Given the description of an element on the screen output the (x, y) to click on. 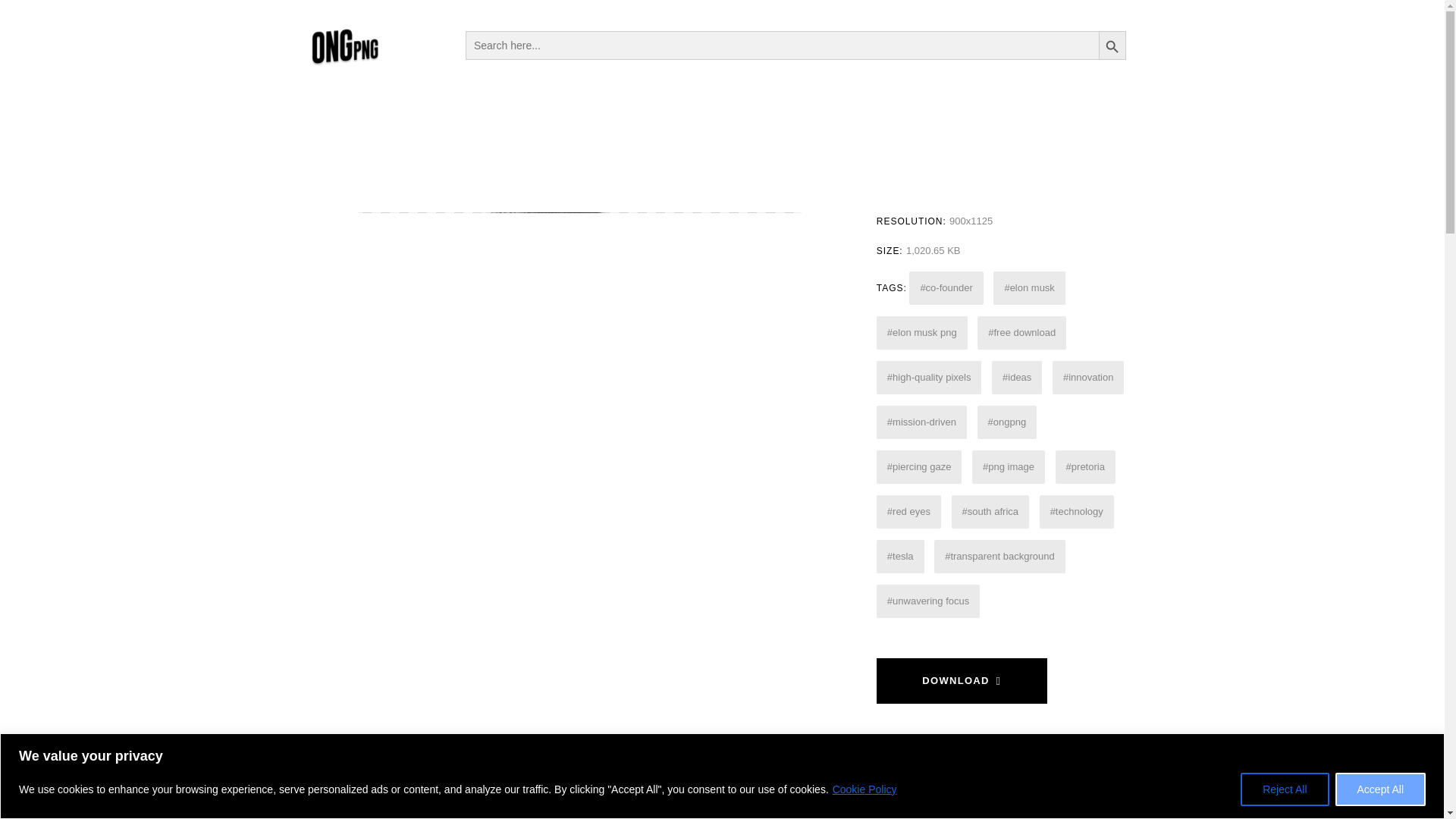
Cookie Policy (864, 789)
Accept All (1380, 788)
Search Button (1112, 44)
Reject All (1283, 788)
